Given the description of an element on the screen output the (x, y) to click on. 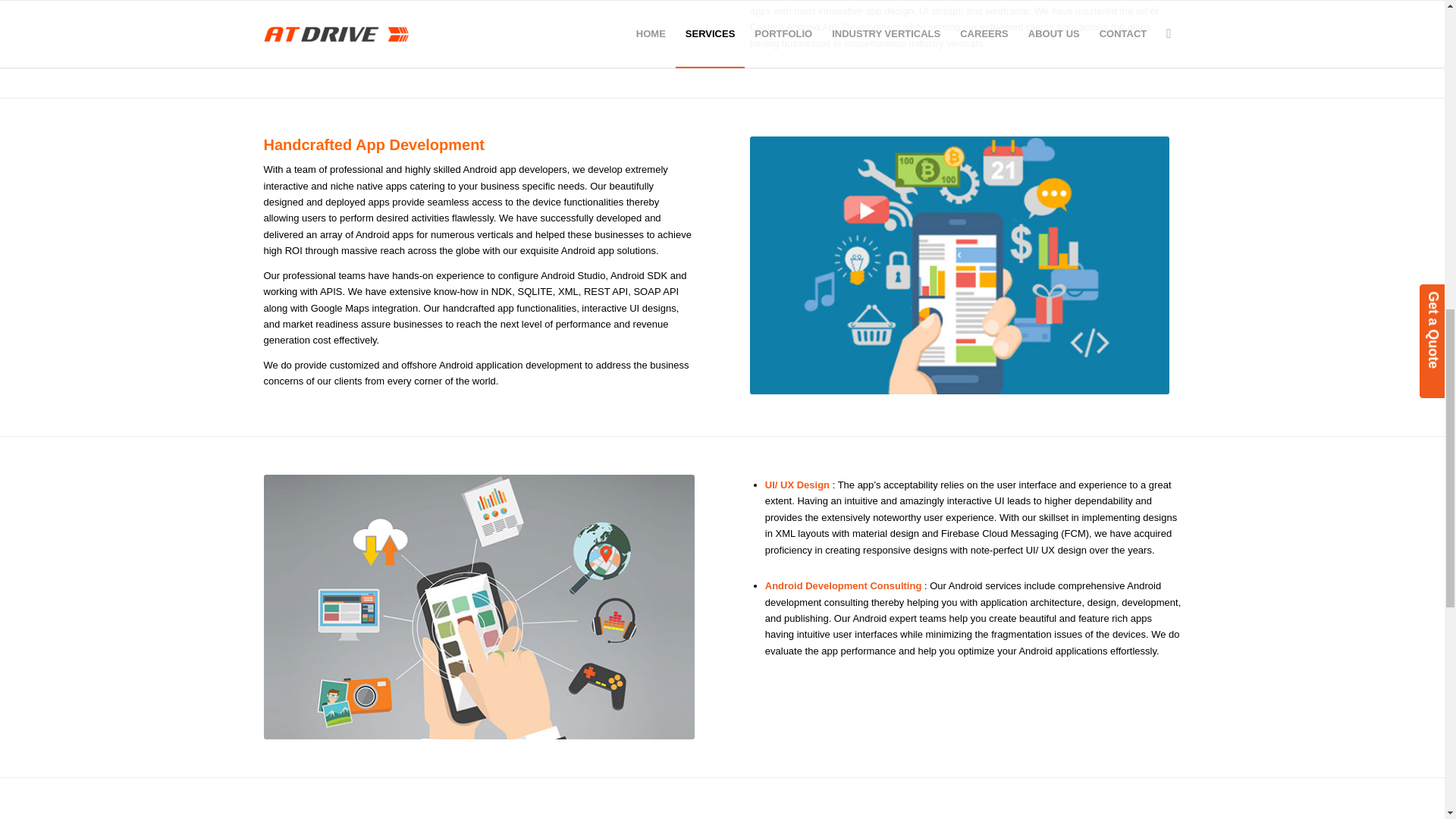
Android-Development-Consulting (479, 607)
Handcrafted-App-Development-1 (959, 264)
